Given the description of an element on the screen output the (x, y) to click on. 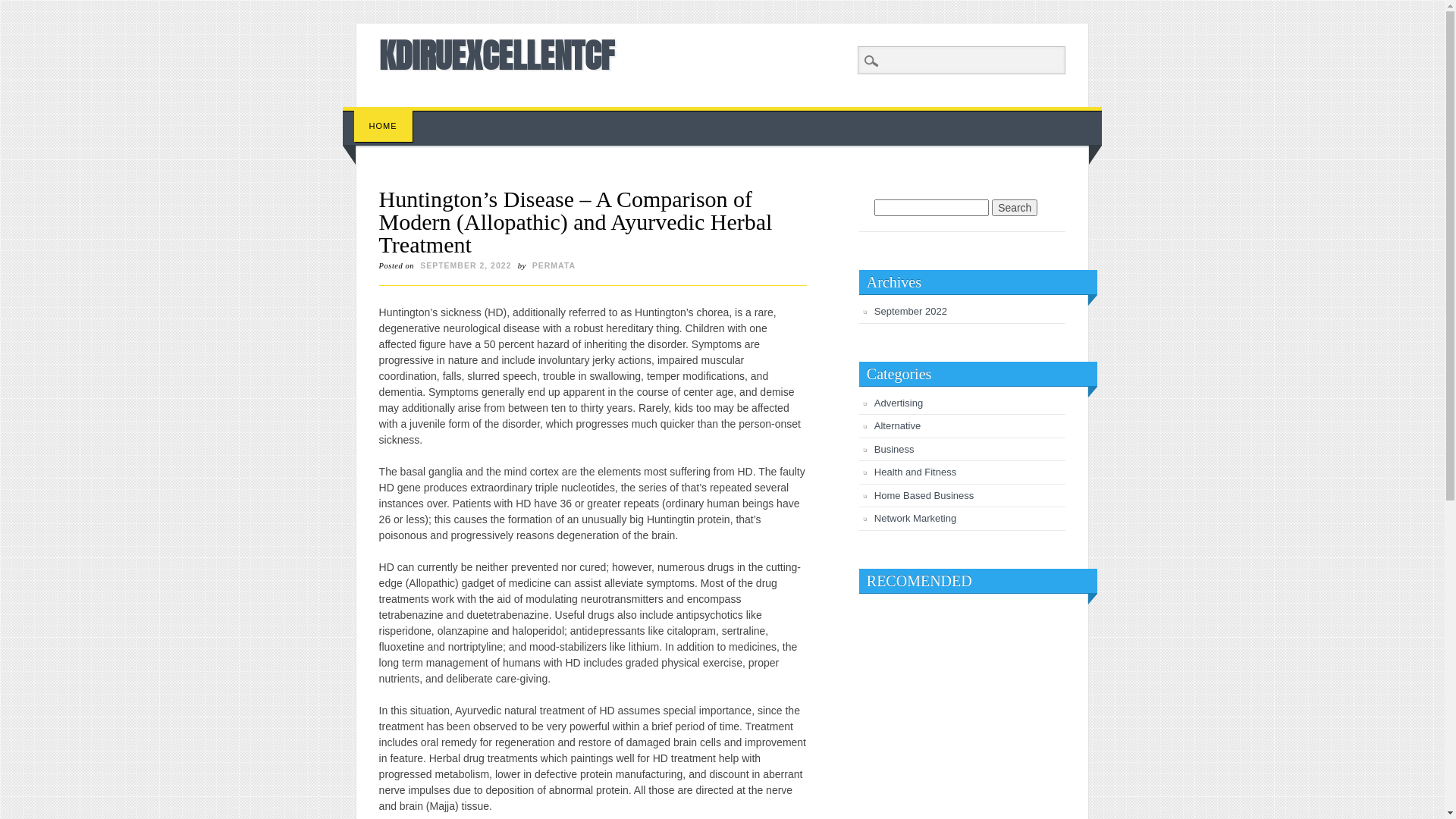
Alternative Element type: text (897, 425)
HOME Element type: text (383, 125)
Skip to content Element type: text (377, 114)
Search Element type: text (1014, 207)
September 2022 Element type: text (910, 310)
Advertising Element type: text (898, 402)
SEPTEMBER 2, 2022 Element type: text (465, 264)
Business Element type: text (894, 449)
PERMATA Element type: text (553, 264)
Search Element type: text (22, 8)
KDIRUEXCELLENTCF Element type: text (496, 55)
Home Based Business Element type: text (924, 495)
Health and Fitness Element type: text (915, 471)
Network Marketing Element type: text (915, 518)
